Given the description of an element on the screen output the (x, y) to click on. 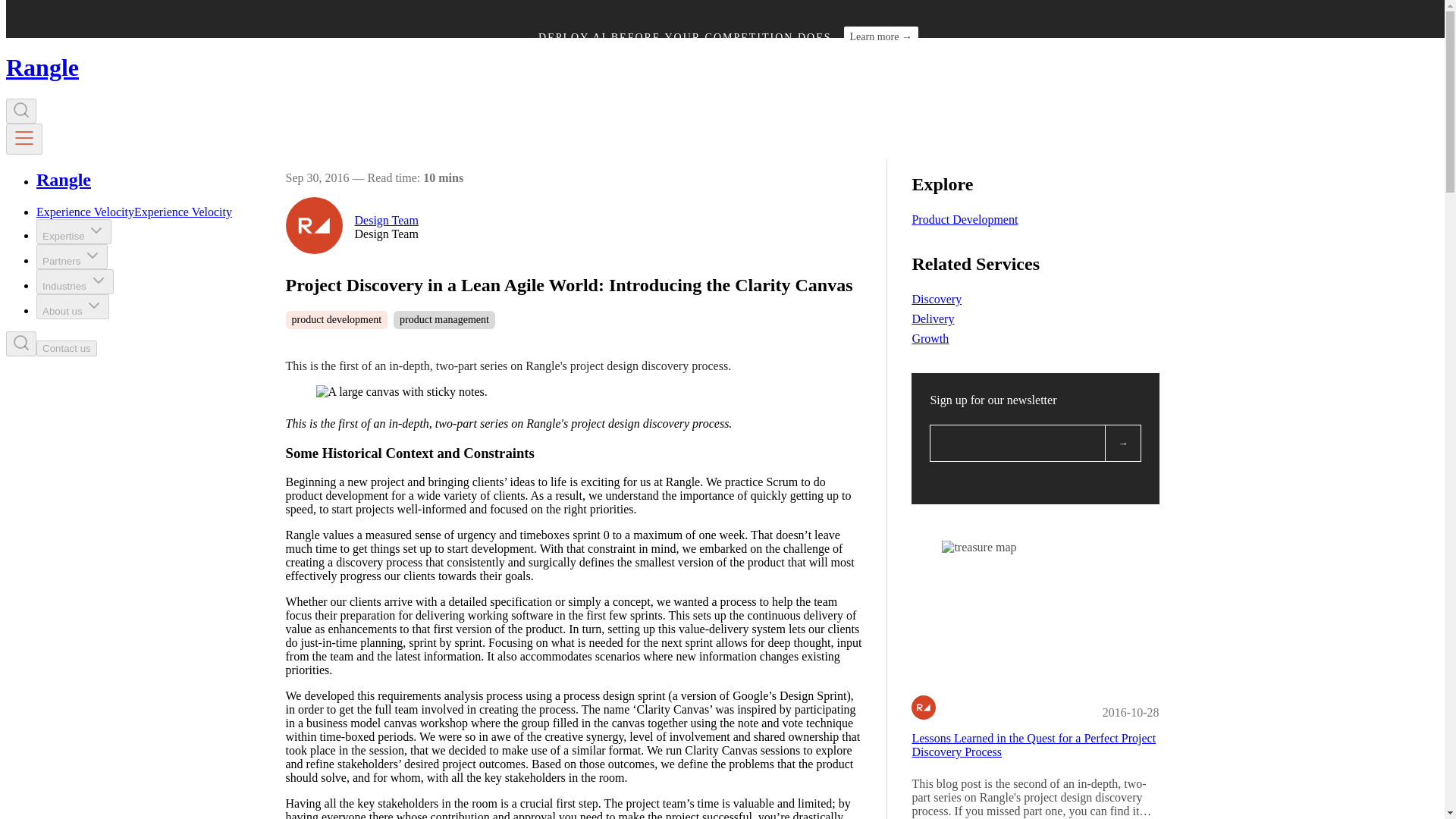
Growth (930, 338)
Industries (74, 281)
Delivery (932, 318)
Discovery (935, 298)
About us (72, 306)
Expertise (74, 231)
Product Development (964, 219)
Design Team (387, 220)
Contact us (66, 348)
Rangle.io, Team member (923, 707)
